Given the description of an element on the screen output the (x, y) to click on. 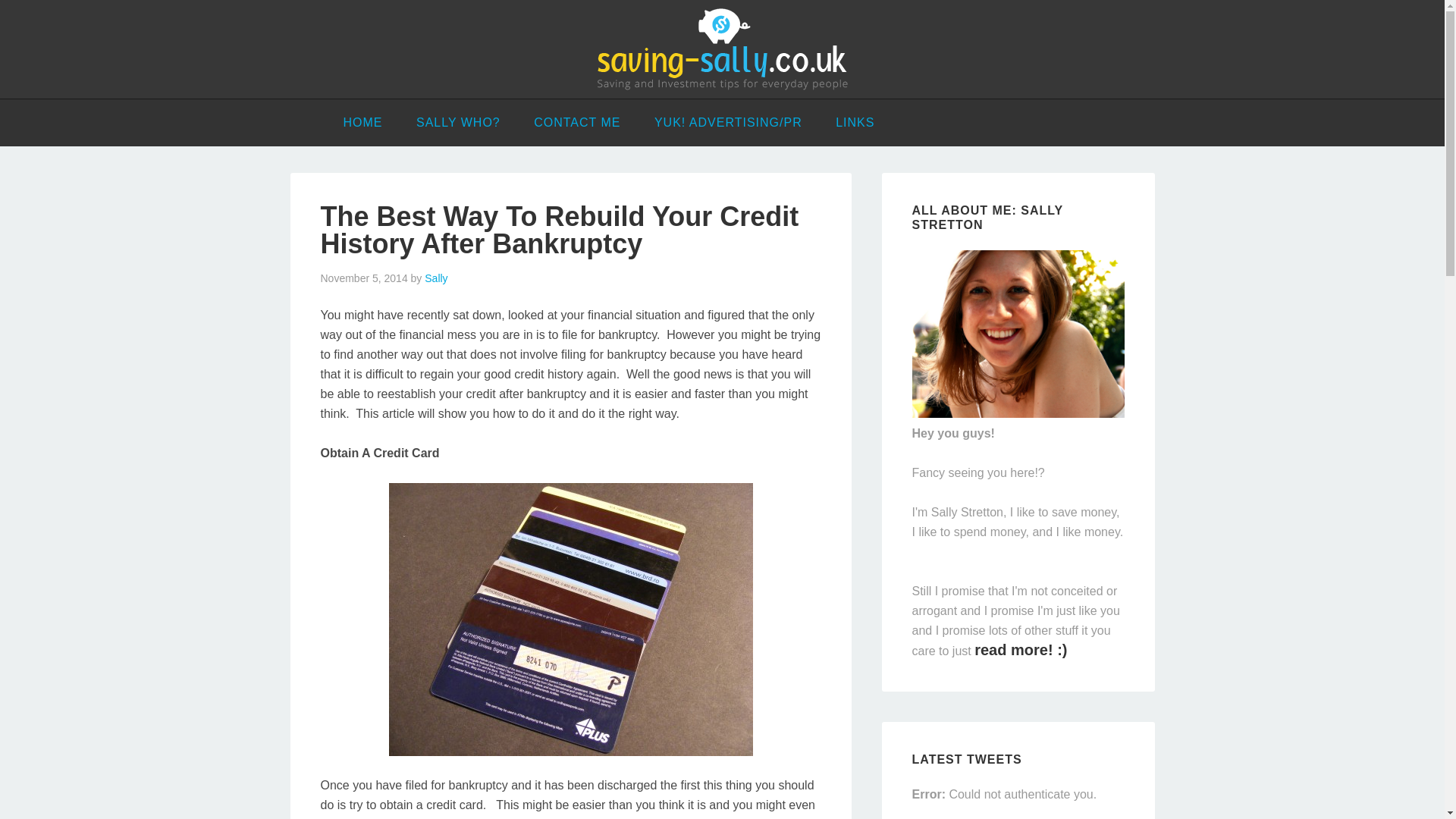
SALLY'S SAVINGS BLOG PERSONAL FINANCE BLOG FOR REDUCING DEBT (721, 48)
Sally (435, 277)
LINKS (855, 122)
read more (1020, 649)
HOME (362, 122)
SALLY WHO? (458, 122)
The Best Way To Rebuild Your Credit History After Bankruptcy (558, 229)
CONTACT ME (576, 122)
